Given the description of an element on the screen output the (x, y) to click on. 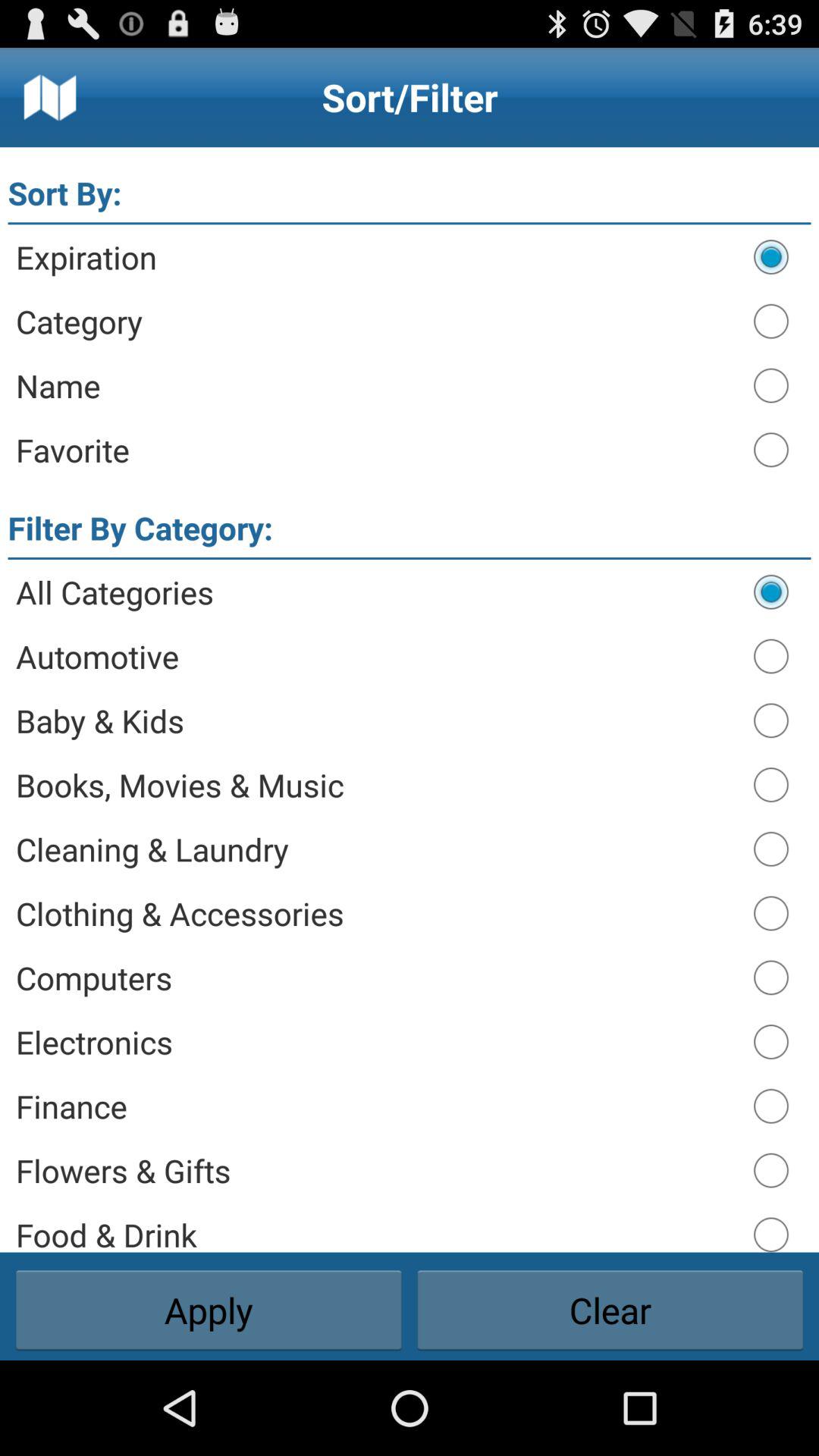
choose the item next to apply button (610, 1310)
